Given the description of an element on the screen output the (x, y) to click on. 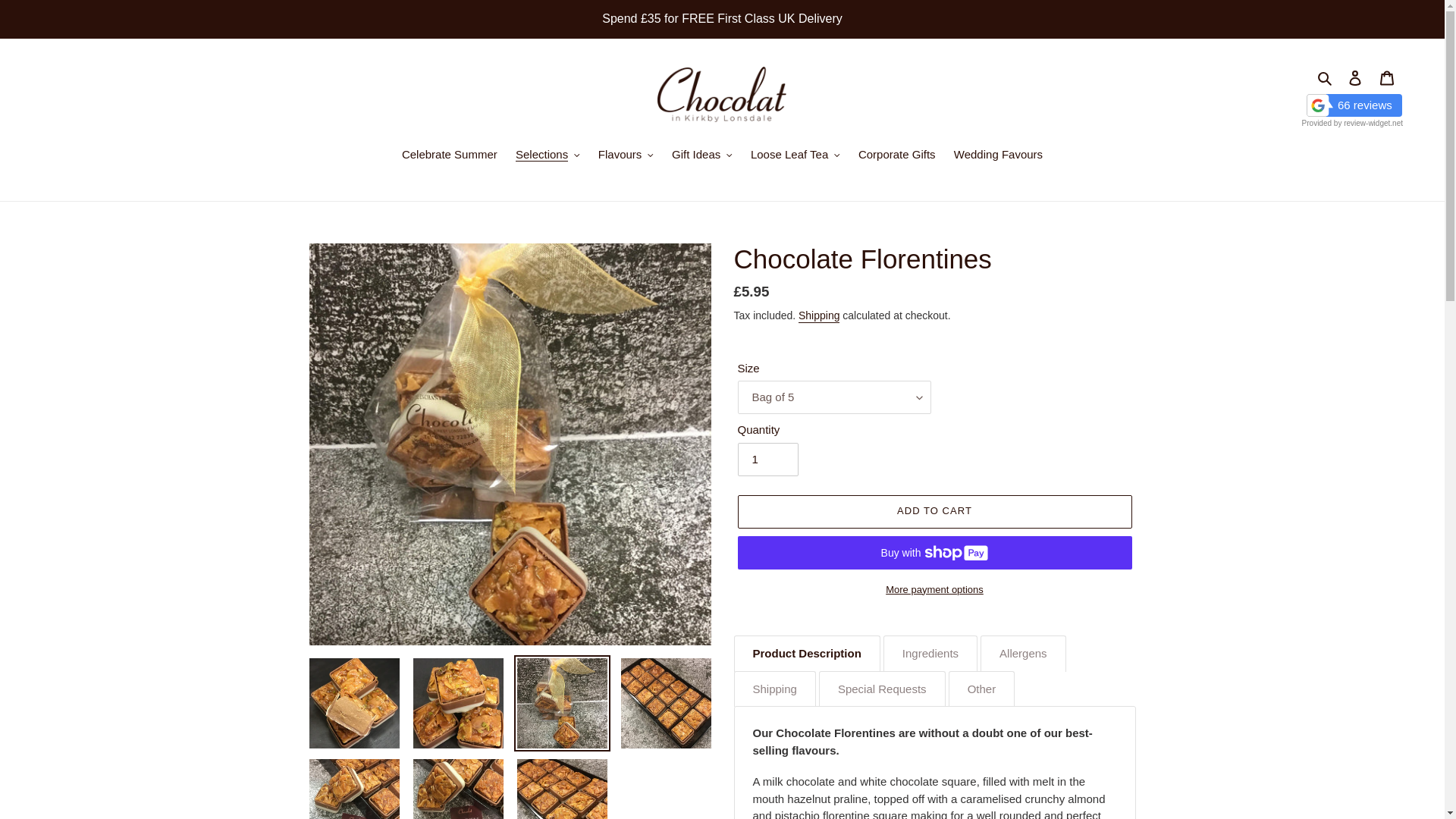
review-widget.net (1373, 121)
66 reviews (1352, 105)
Cart (1387, 77)
Search (1326, 76)
1 (766, 459)
Log in (1355, 77)
